Given the description of an element on the screen output the (x, y) to click on. 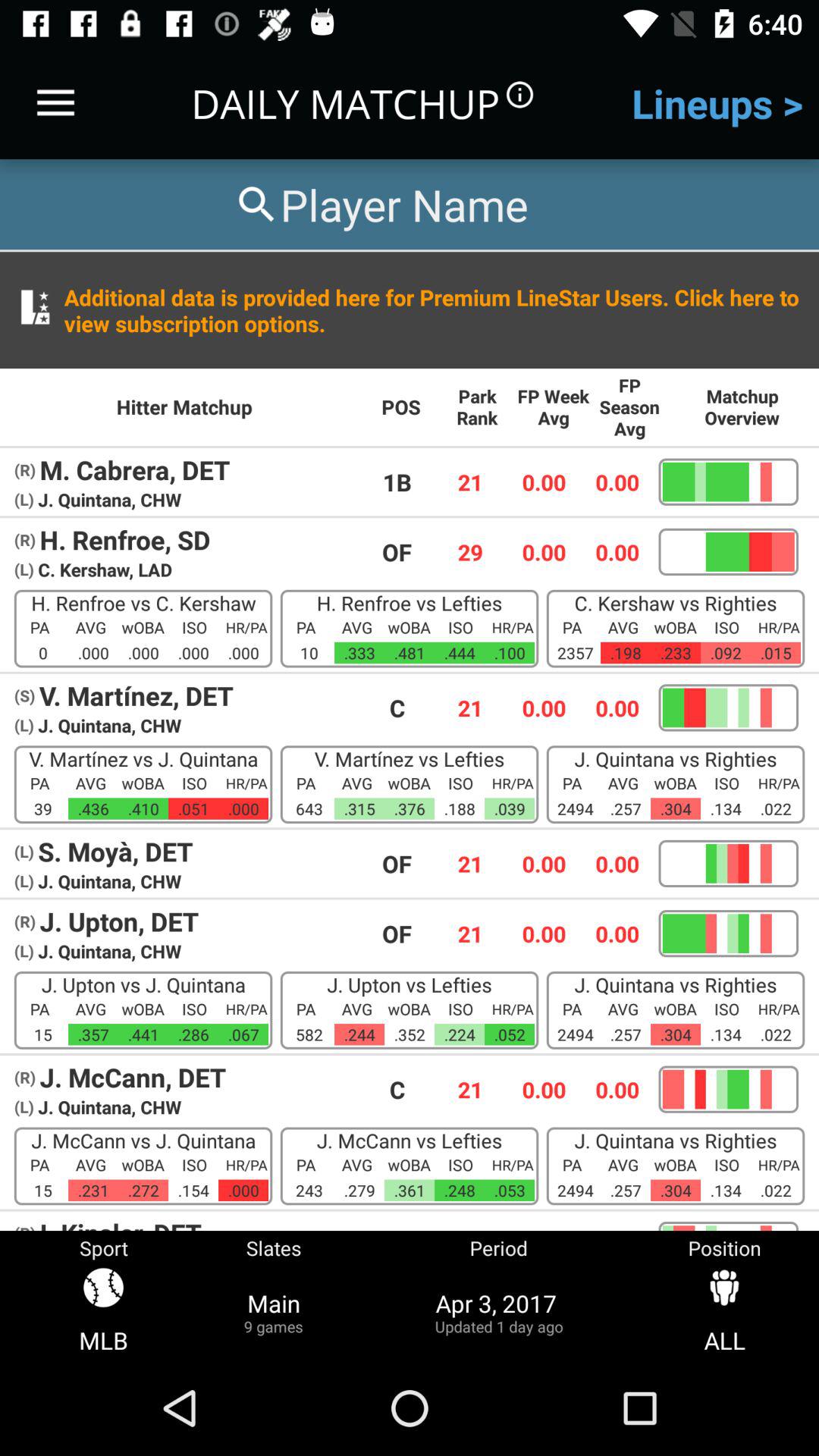
click on the bottom left side second icon (273, 1295)
